Given the description of an element on the screen output the (x, y) to click on. 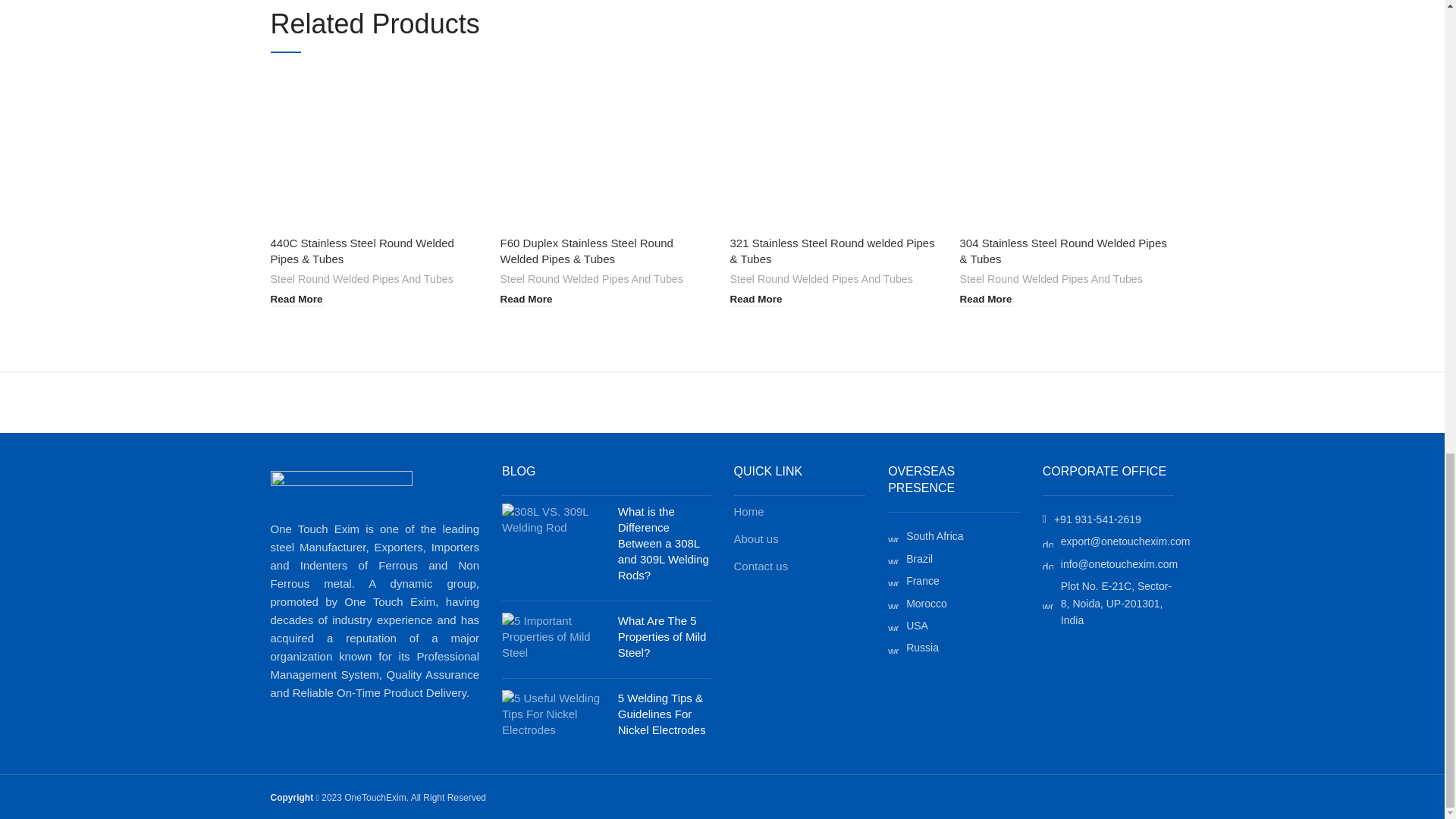
5 Important Properties of Mild Steel (554, 636)
Steel Round Welded Pipes And Tubes (360, 279)
wd-cursor-light (893, 603)
Permalink to What Are The 5 Properties of Mild Steel? (661, 636)
wd-cursor-light (893, 647)
308L VS. 309L Welding Rod (554, 519)
wd-cursor-light (893, 580)
Read More (295, 299)
wd-cursor-light (893, 536)
